Given the description of an element on the screen output the (x, y) to click on. 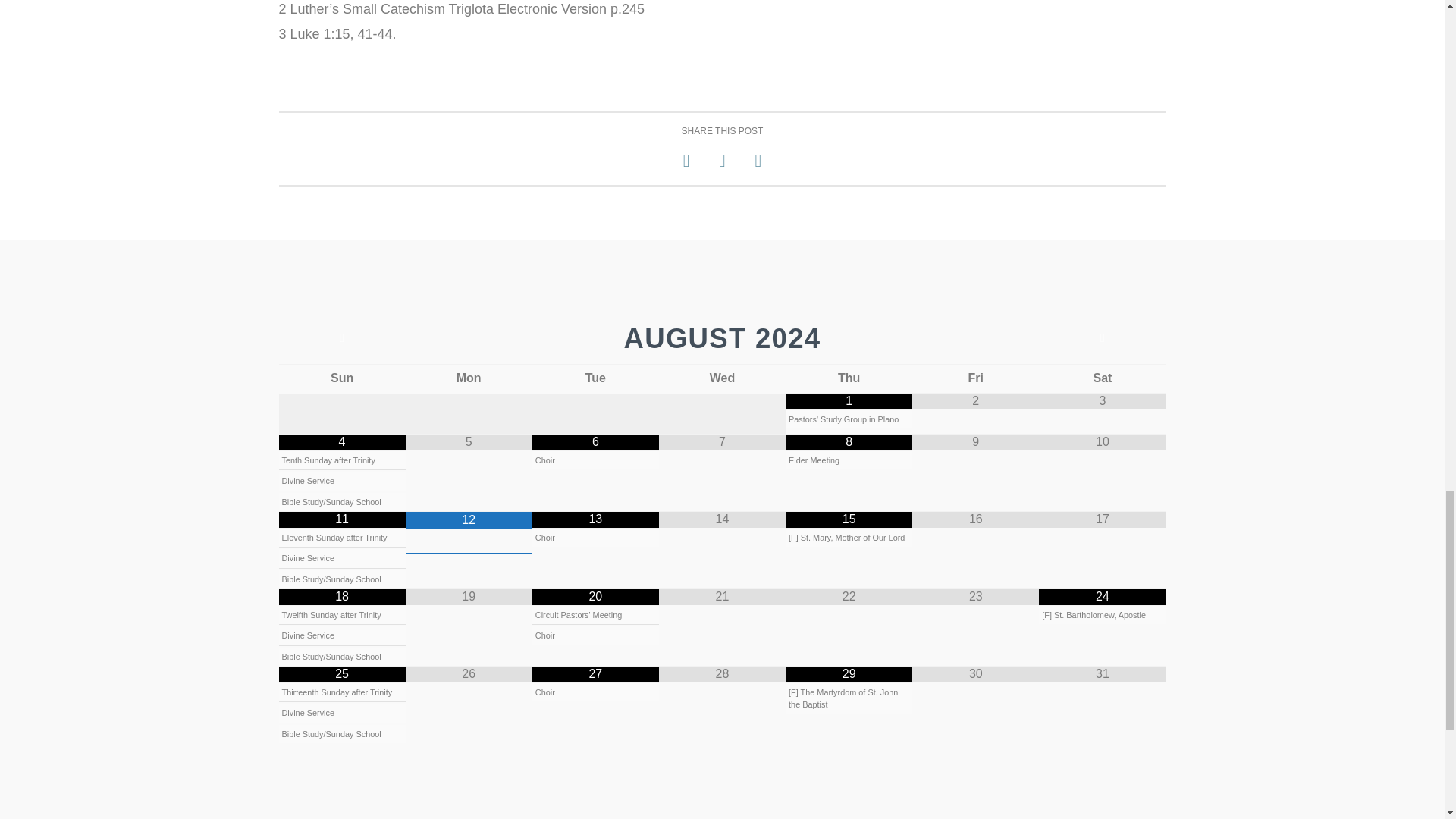
Page 2 (722, 22)
Previous Month (342, 338)
Share on Twitter (721, 160)
Share via Email (757, 160)
Next Month (1102, 338)
Share on Facebook (686, 160)
